Given the description of an element on the screen output the (x, y) to click on. 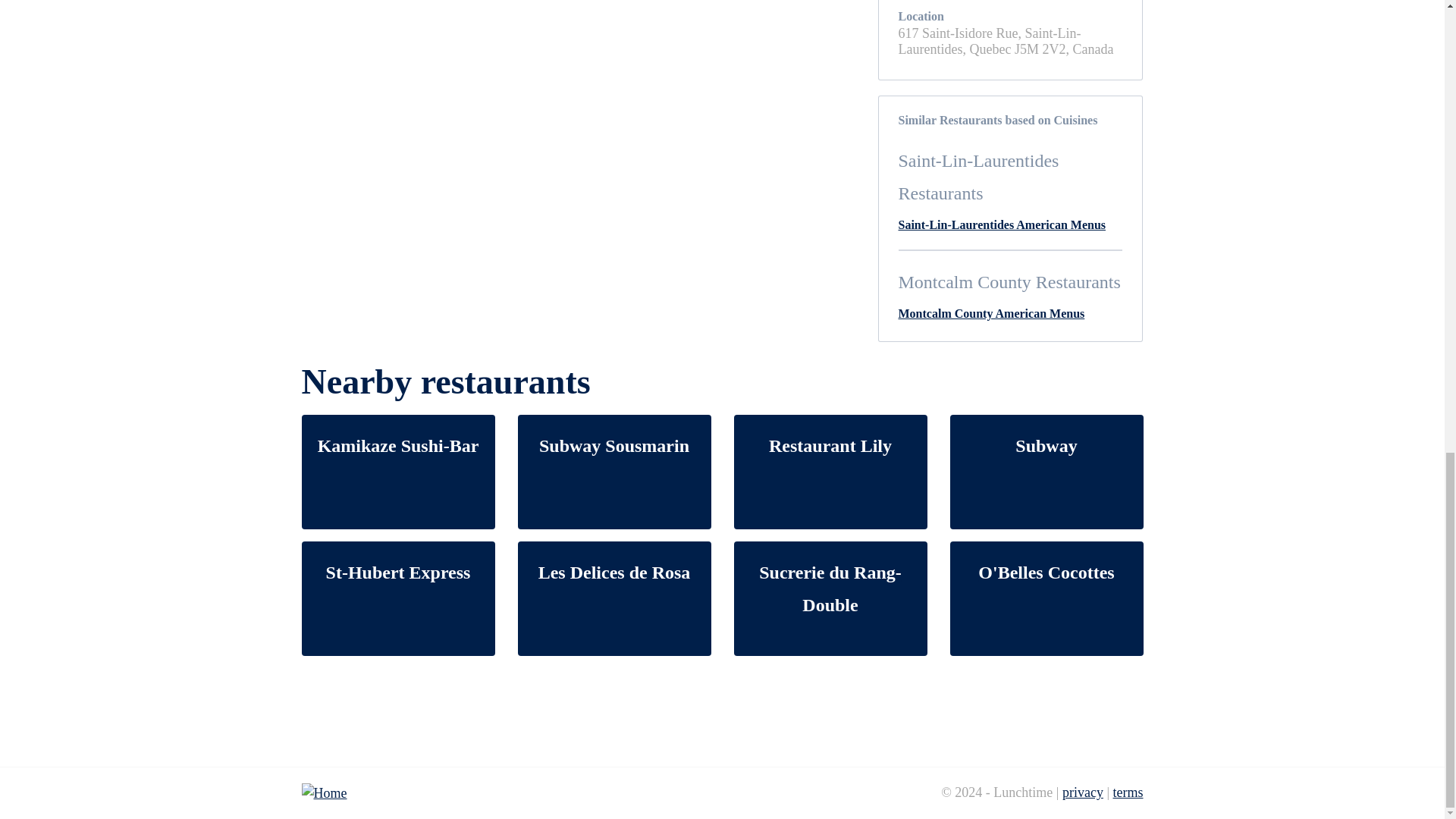
O'Belles Cocottes (1045, 598)
terms (1127, 792)
Sucrerie du Rang-Double (830, 598)
Kamikaze Sushi-Bar (398, 471)
Les Delices de Rosa (613, 598)
Restaurant Lily (830, 471)
Saint-Lin-Laurentides American Menus (1001, 224)
Subway Sousmarin (613, 471)
privacy (1082, 792)
St-Hubert Express (398, 598)
